Given the description of an element on the screen output the (x, y) to click on. 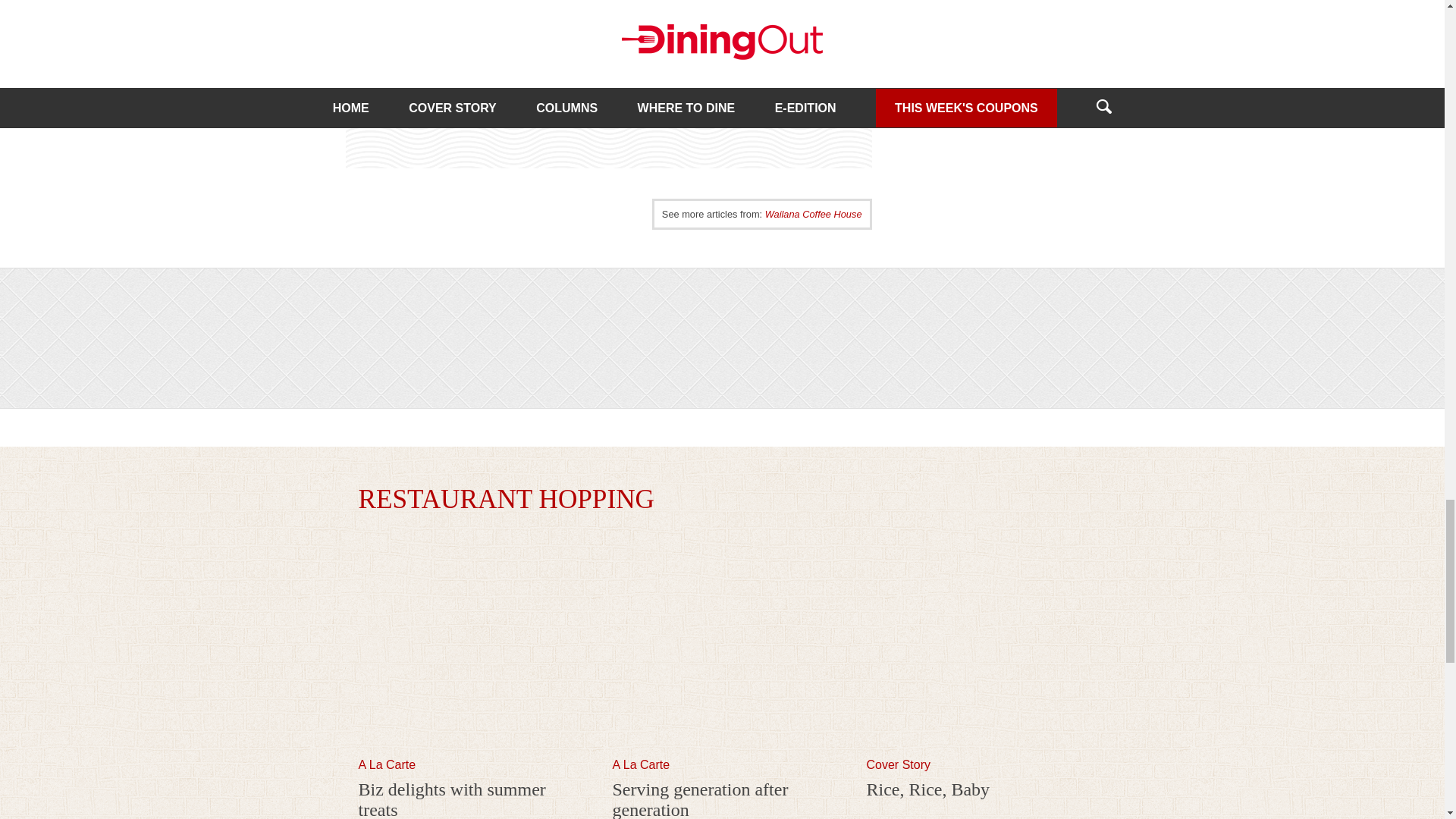
A La Carte (640, 764)
Biz delights with summer treats (451, 799)
Serving generation after generation (722, 750)
Serving generation after generation (700, 799)
Biz delights with summer treats (468, 750)
Biz delights with summer treats (451, 799)
A La Carte (386, 764)
Wailana Coffee House (813, 214)
A La Carte (386, 764)
